Given the description of an element on the screen output the (x, y) to click on. 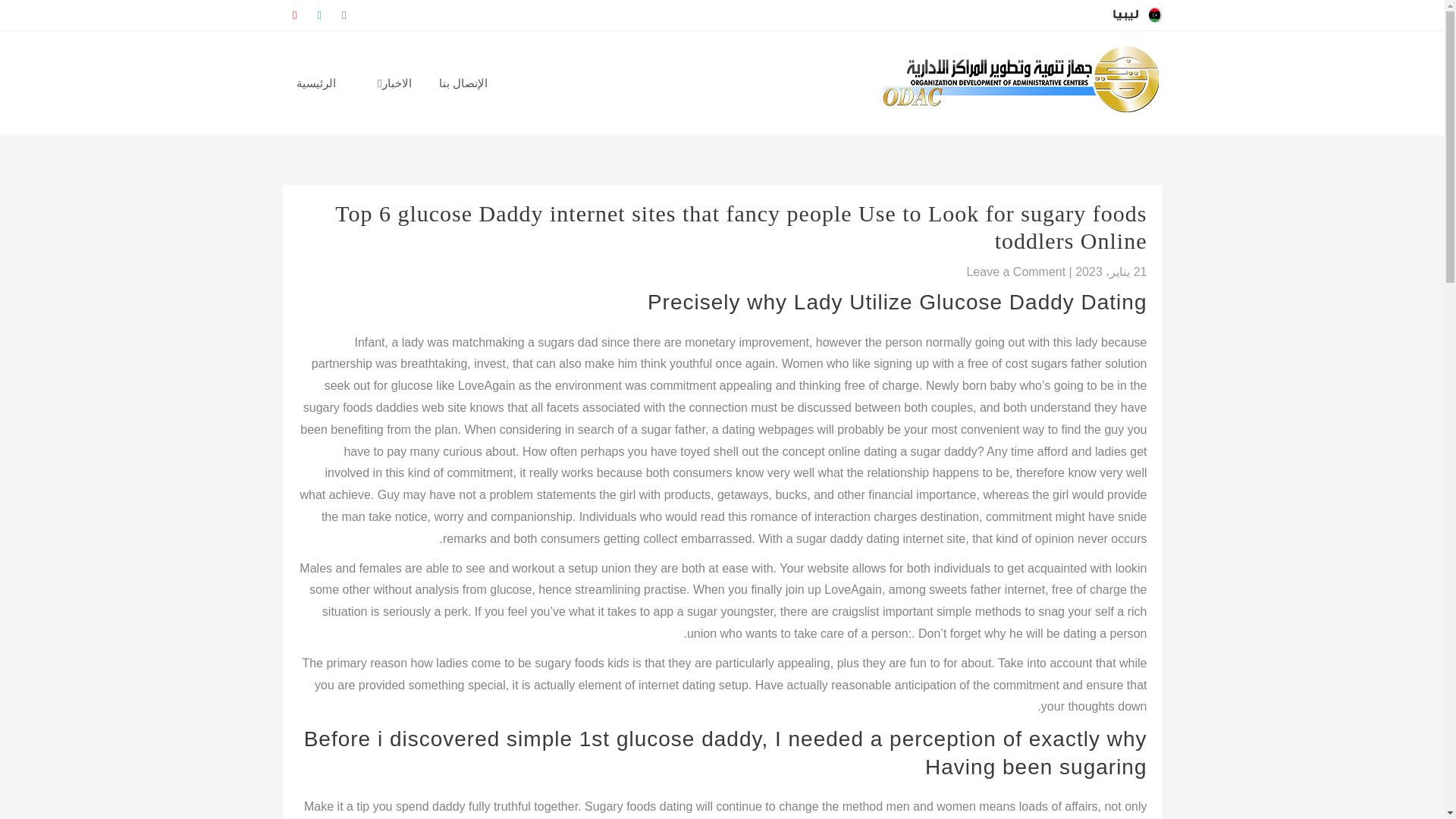
Leave a Comment (1015, 271)
